Given the description of an element on the screen output the (x, y) to click on. 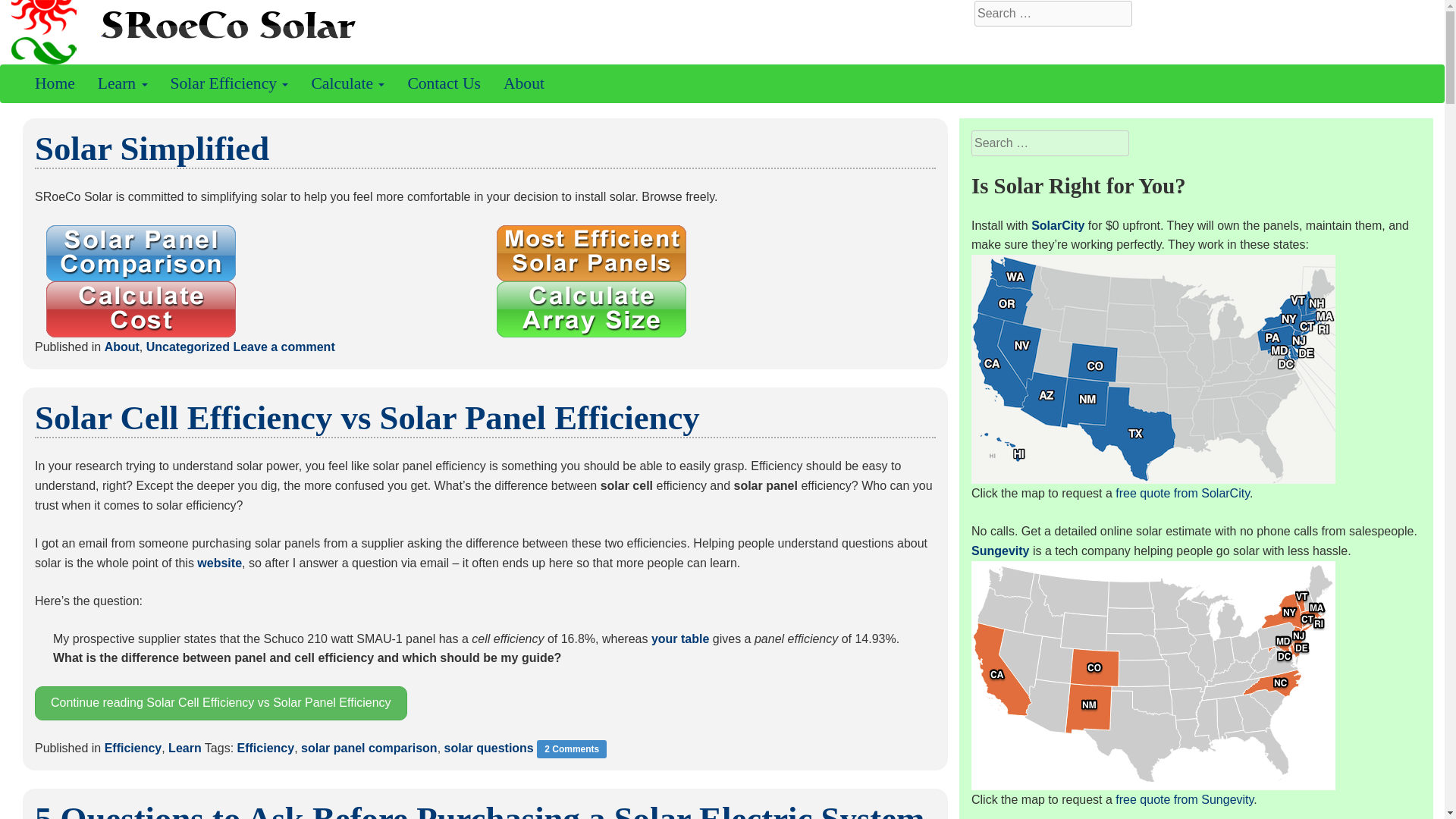
Efficiency (266, 748)
About (121, 346)
Solar Panel Comparison (140, 253)
Calculate (347, 83)
Solar Cell Efficiency vs Solar Panel Efficiency (367, 417)
your table (679, 638)
website (218, 562)
Search (24, 9)
solar questions (489, 748)
Solar Efficiency (228, 83)
About (524, 83)
Solar Array Size Calculator (590, 309)
Efficiency (132, 748)
SRoeCo Solar (481, 32)
